Given the description of an element on the screen output the (x, y) to click on. 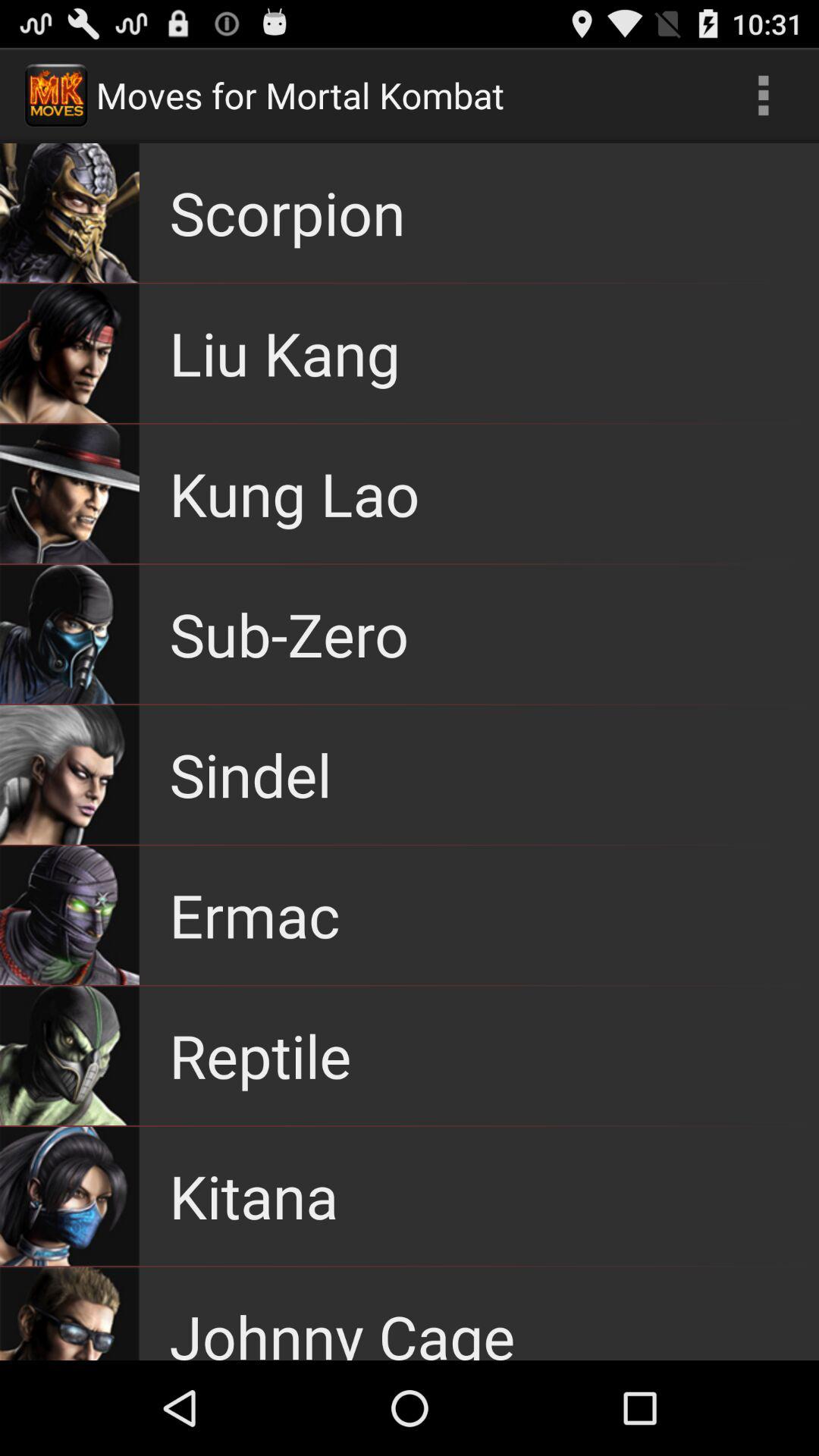
open item below the sindel (254, 914)
